Given the description of an element on the screen output the (x, y) to click on. 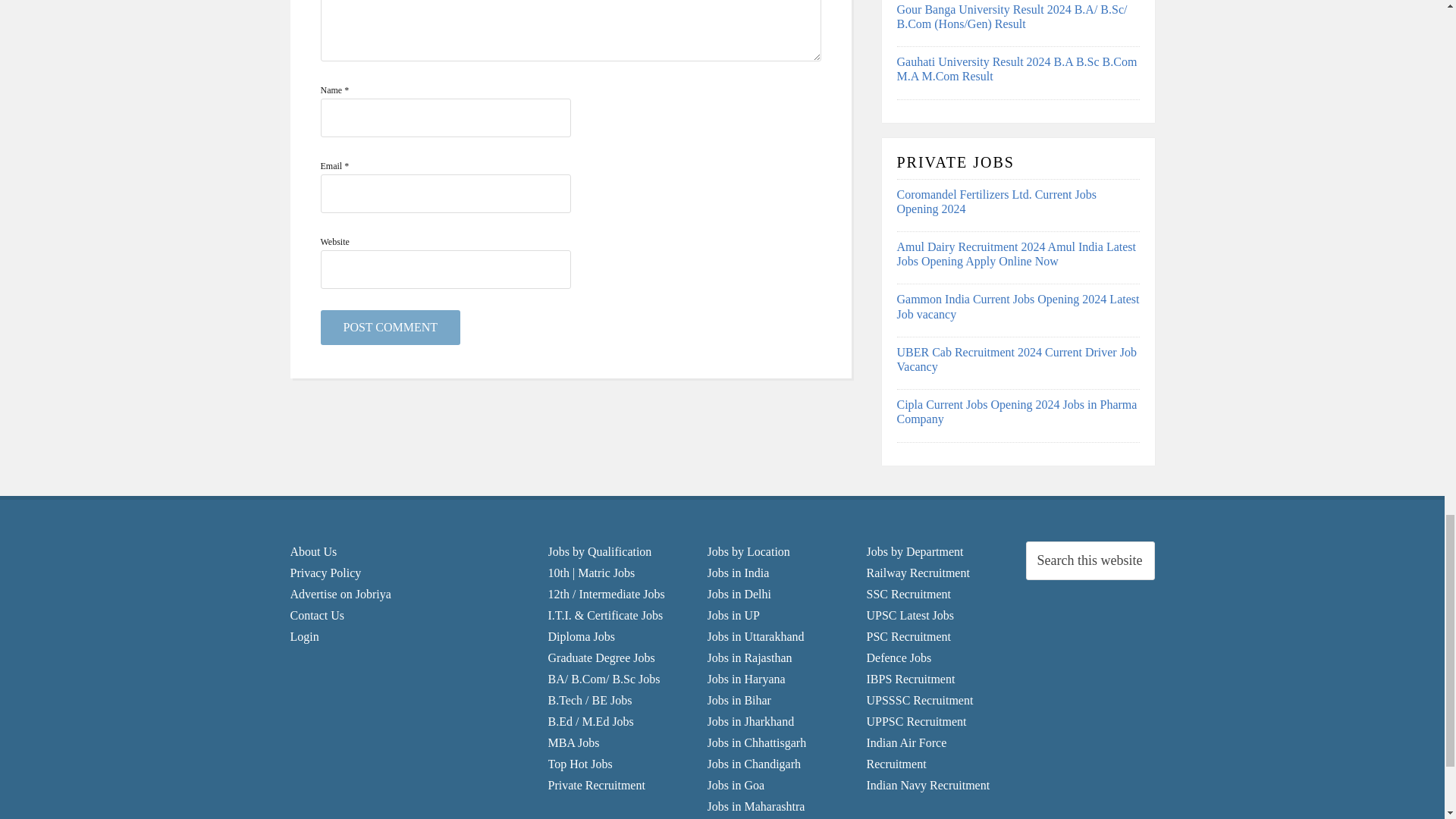
Post Comment (390, 327)
